Given the description of an element on the screen output the (x, y) to click on. 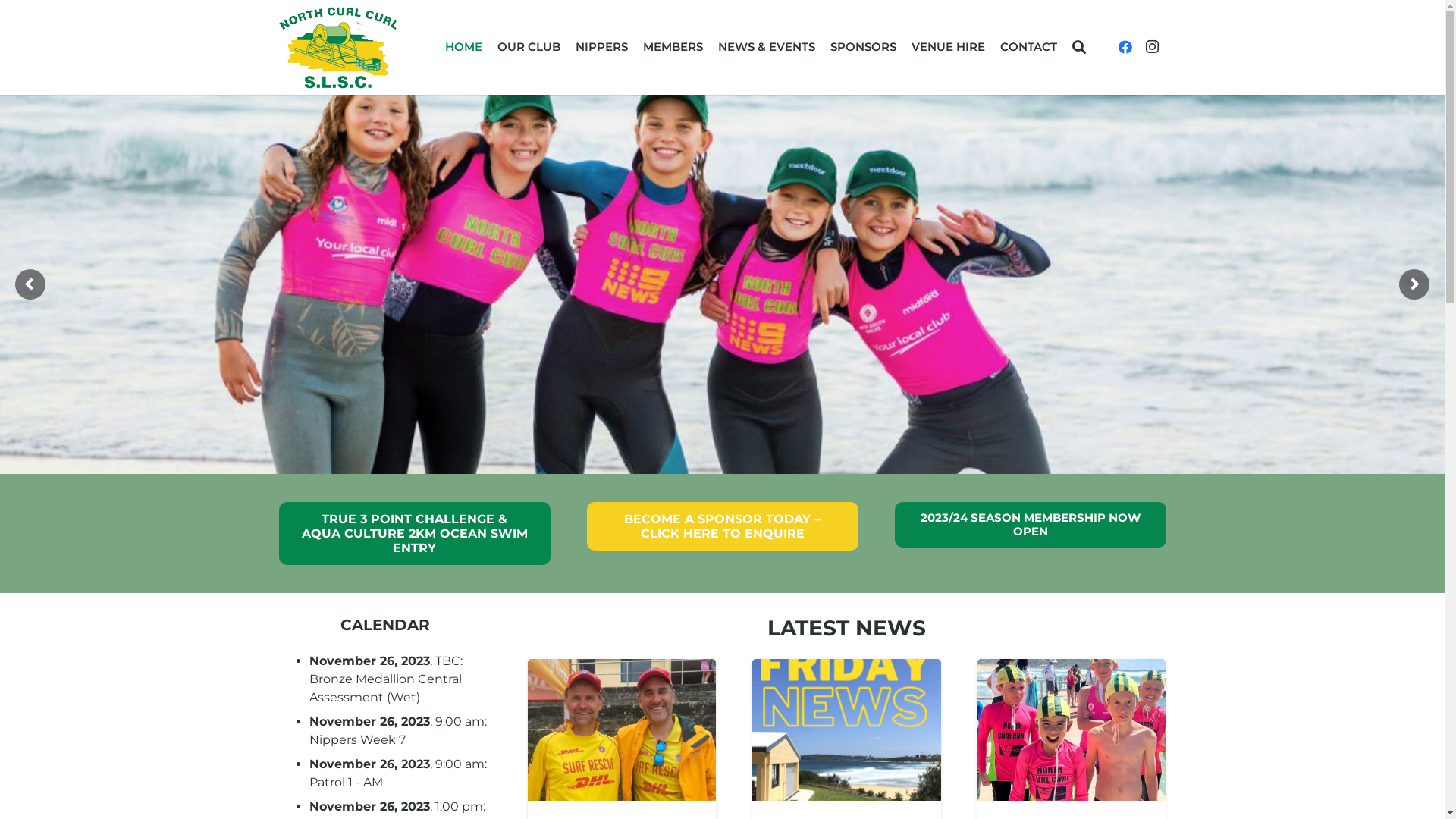
VENUE HIRE Element type: text (947, 46)
CONTACT Element type: text (1028, 46)
2023/24 SEASON MEMBERSHIP NOW OPEN Element type: text (1030, 524)
Facebook Element type: hover (1125, 46)
SPONSORS Element type: text (862, 46)
MEMBERS Element type: text (672, 46)
NIPPERS Element type: text (601, 46)
Instagram Element type: hover (1152, 46)
NEWS & EVENTS Element type: text (766, 46)
OUR CLUB Element type: text (528, 46)
HOME Element type: text (463, 46)
TRUE 3 POINT CHALLENGE & AQUA CULTURE 2KM OCEAN SWIM ENTRY Element type: text (414, 533)
